Given the description of an element on the screen output the (x, y) to click on. 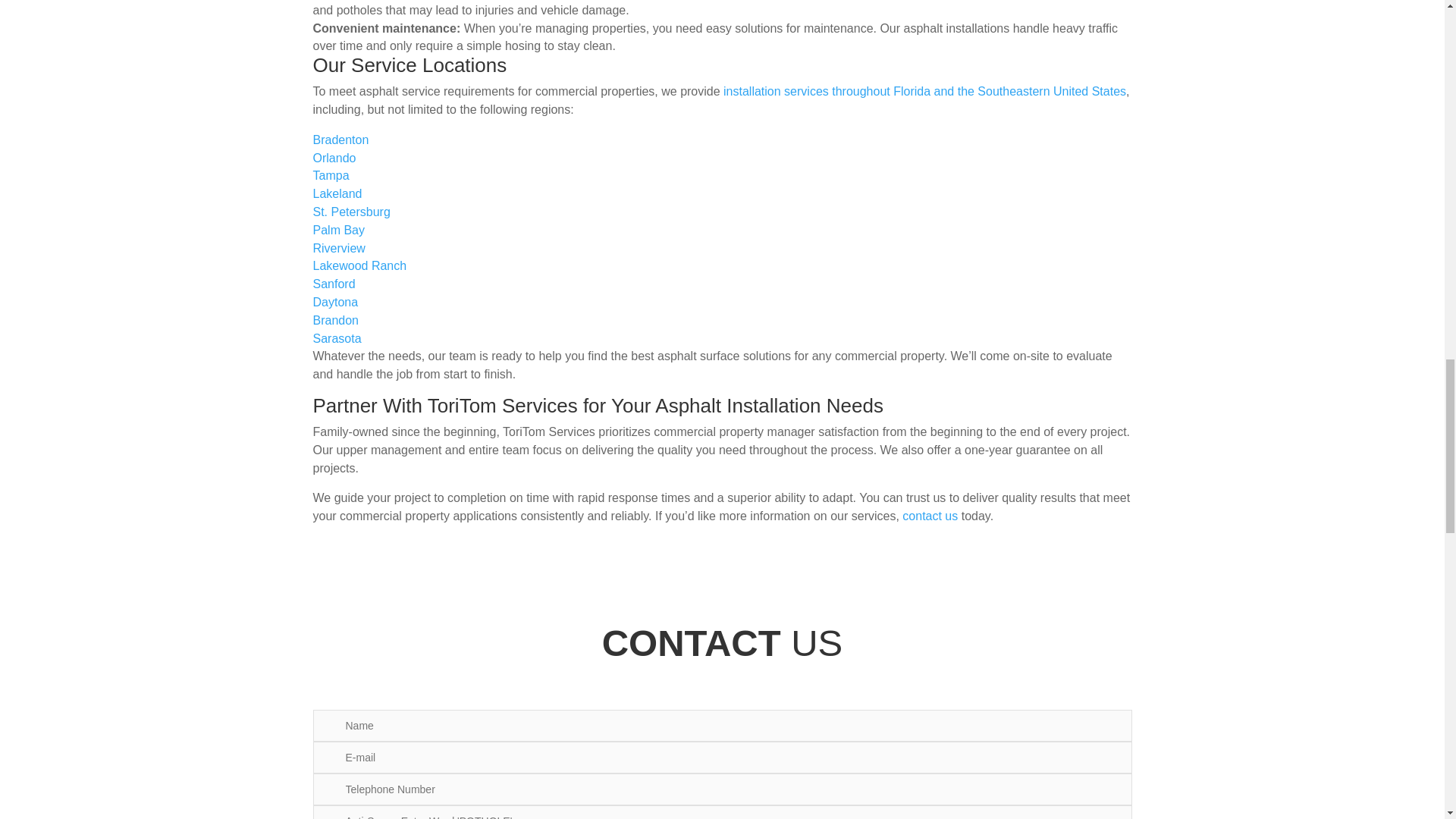
Orlando (334, 157)
Bradenton (340, 139)
